Given the description of an element on the screen output the (x, y) to click on. 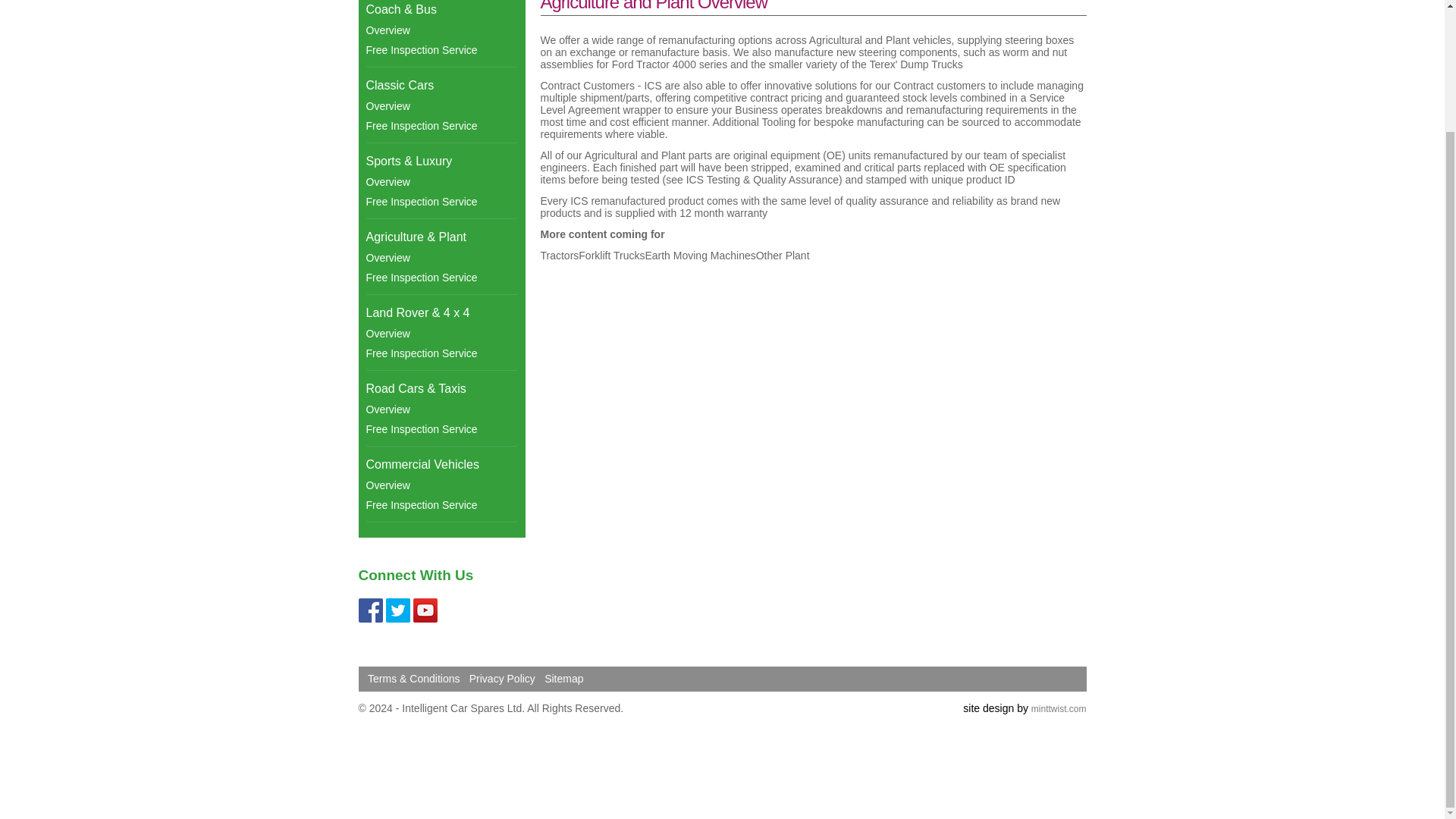
Free Inspection Service (440, 49)
Overview (440, 106)
Free Inspection Service (440, 201)
Overview (440, 181)
Overview (440, 257)
Overview (440, 333)
Free Inspection Service (440, 125)
Free Inspection Service (440, 353)
Free Inspection Service (440, 277)
Overview (440, 30)
